Given the description of an element on the screen output the (x, y) to click on. 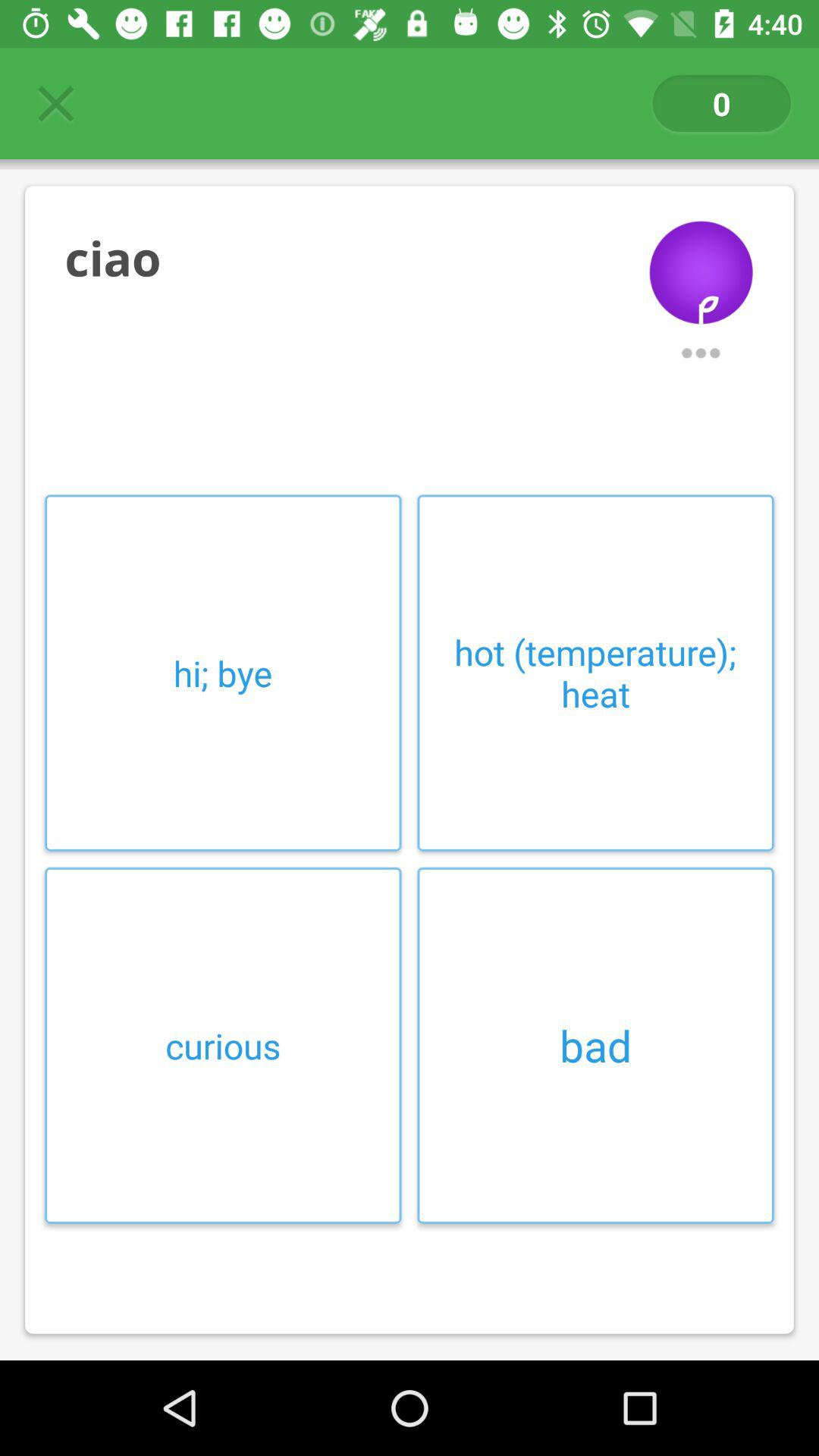
select item to the left of the hot (temperature); heat item (222, 672)
